Given the description of an element on the screen output the (x, y) to click on. 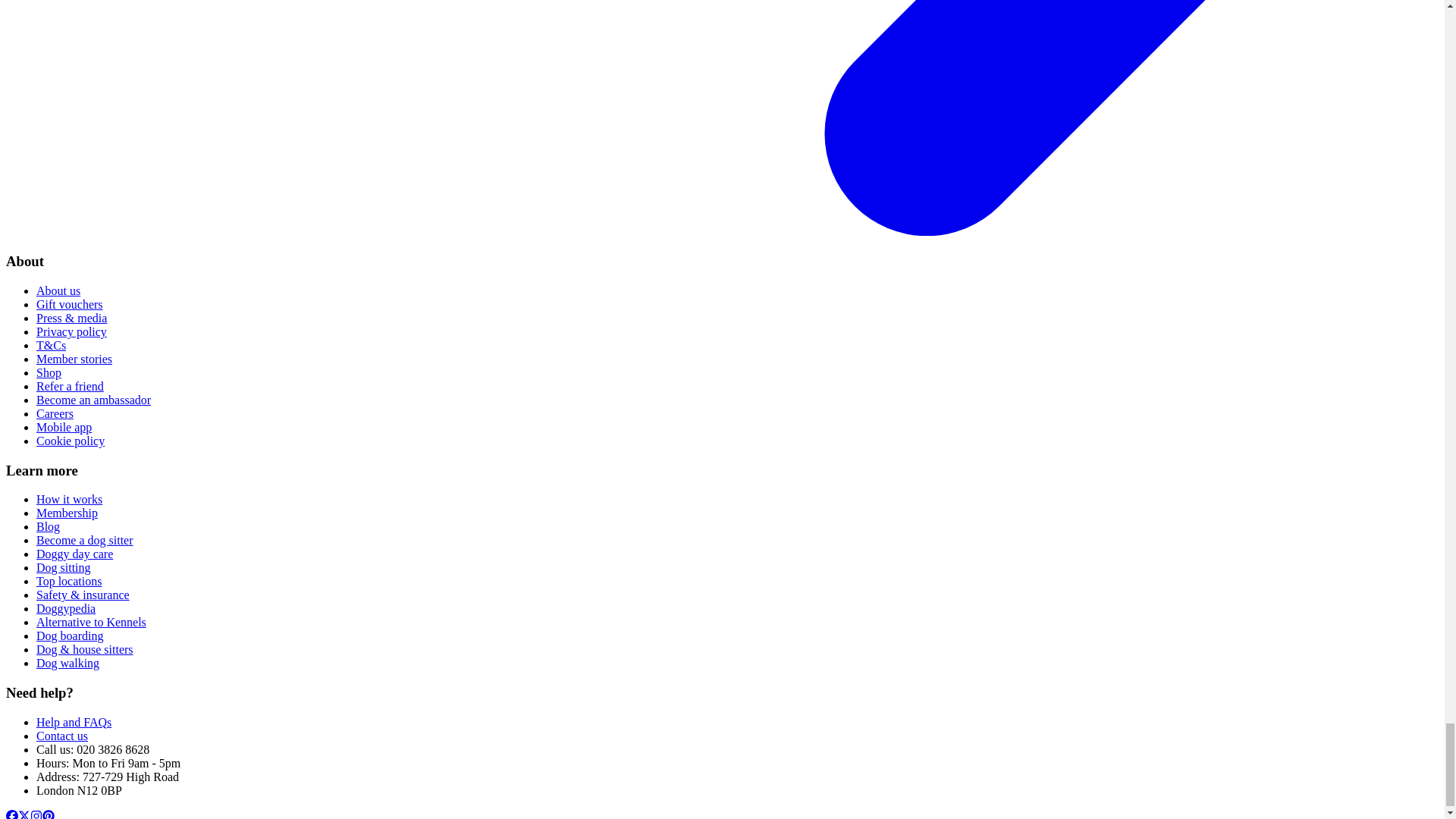
Gift vouchers (69, 304)
About us (58, 290)
Privacy policy (71, 331)
Member stories (74, 358)
Shop (48, 372)
